Given the description of an element on the screen output the (x, y) to click on. 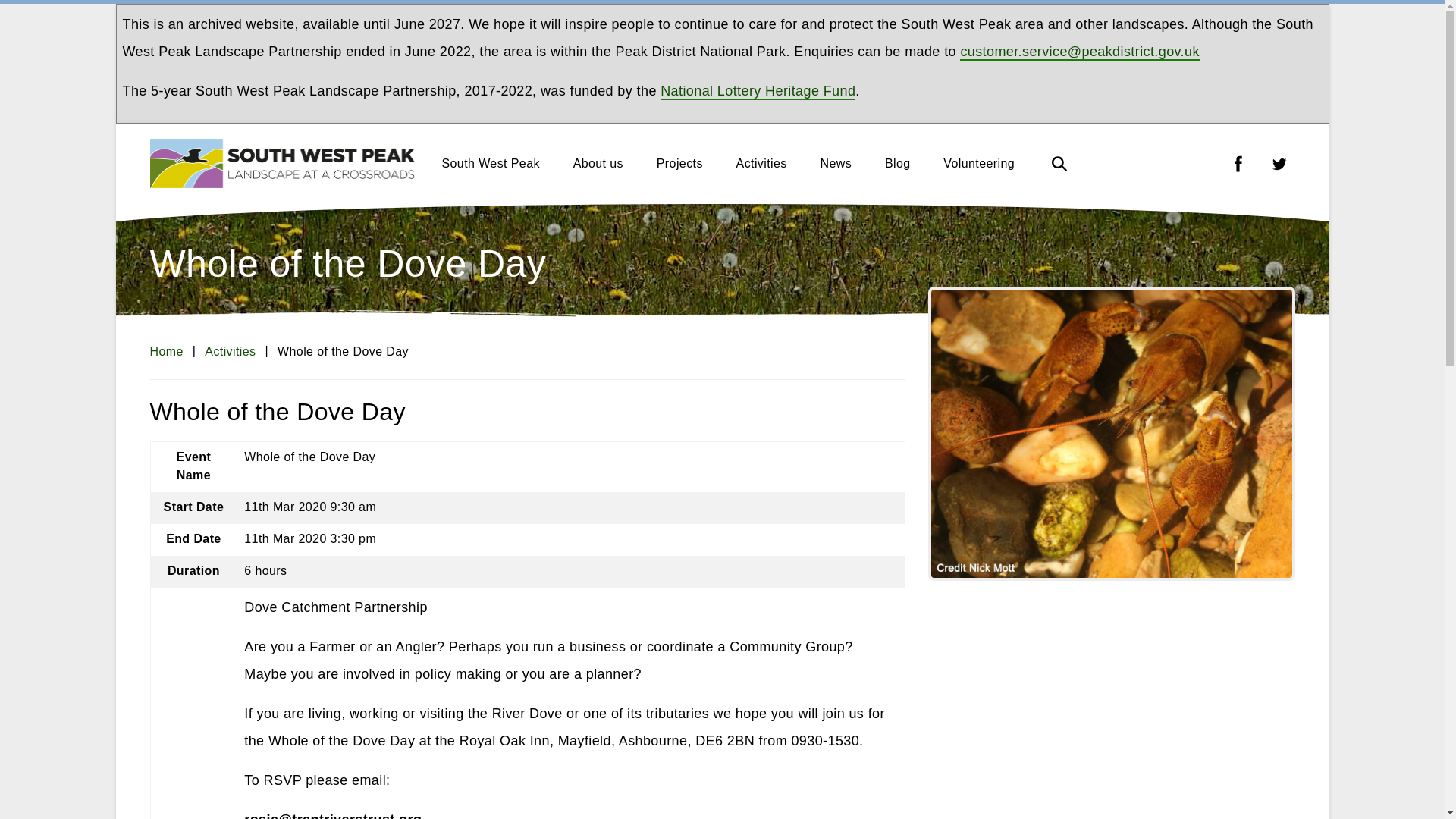
Activities (761, 162)
Volunteering (978, 162)
Activities (230, 350)
Projects (679, 162)
Search (1059, 162)
National Lottery Heritage Fund (758, 91)
About us (598, 162)
Blog (898, 162)
South West Peak (489, 162)
Home (166, 350)
